Given the description of an element on the screen output the (x, y) to click on. 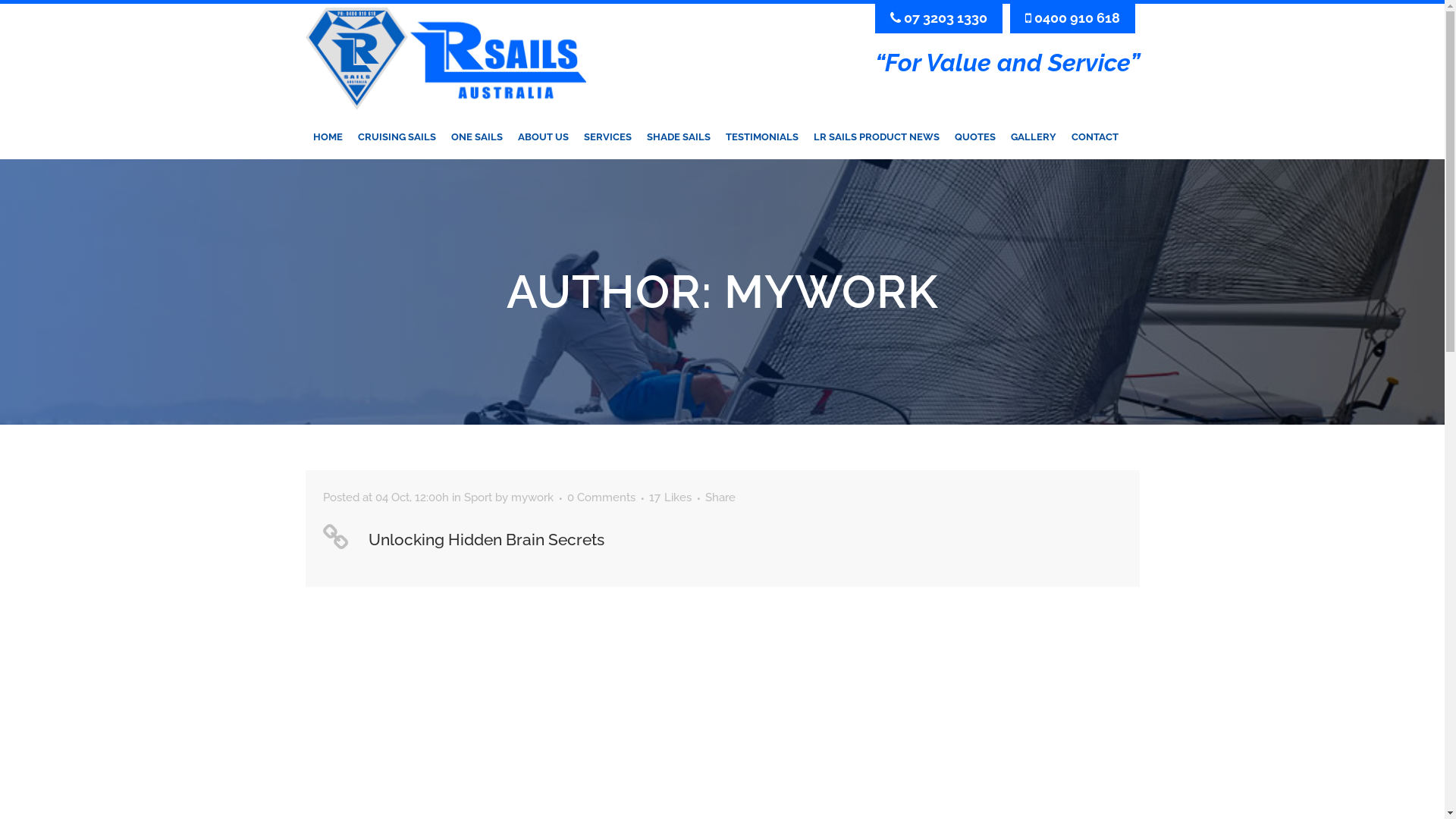
ABOUT US Element type: text (542, 136)
QUOTES Element type: text (974, 136)
Unlocking Hidden Brain Secrets Element type: text (486, 539)
Share Element type: text (720, 497)
Sport Element type: text (478, 497)
SERVICES Element type: text (607, 136)
LR SAILS PRODUCT NEWS Element type: text (875, 136)
0400 910 618 Element type: text (1072, 17)
CRUISING SAILS Element type: text (396, 136)
HOME Element type: text (326, 136)
mywork Element type: text (532, 497)
GALLERY Element type: text (1032, 136)
SHADE SAILS Element type: text (677, 136)
17 Likes Element type: text (670, 497)
07 3203 1330 Element type: text (938, 17)
TESTIMONIALS Element type: text (761, 136)
0 Comments Element type: text (601, 497)
ONE SAILS Element type: text (475, 136)
CONTACT Element type: text (1094, 136)
